Given the description of an element on the screen output the (x, y) to click on. 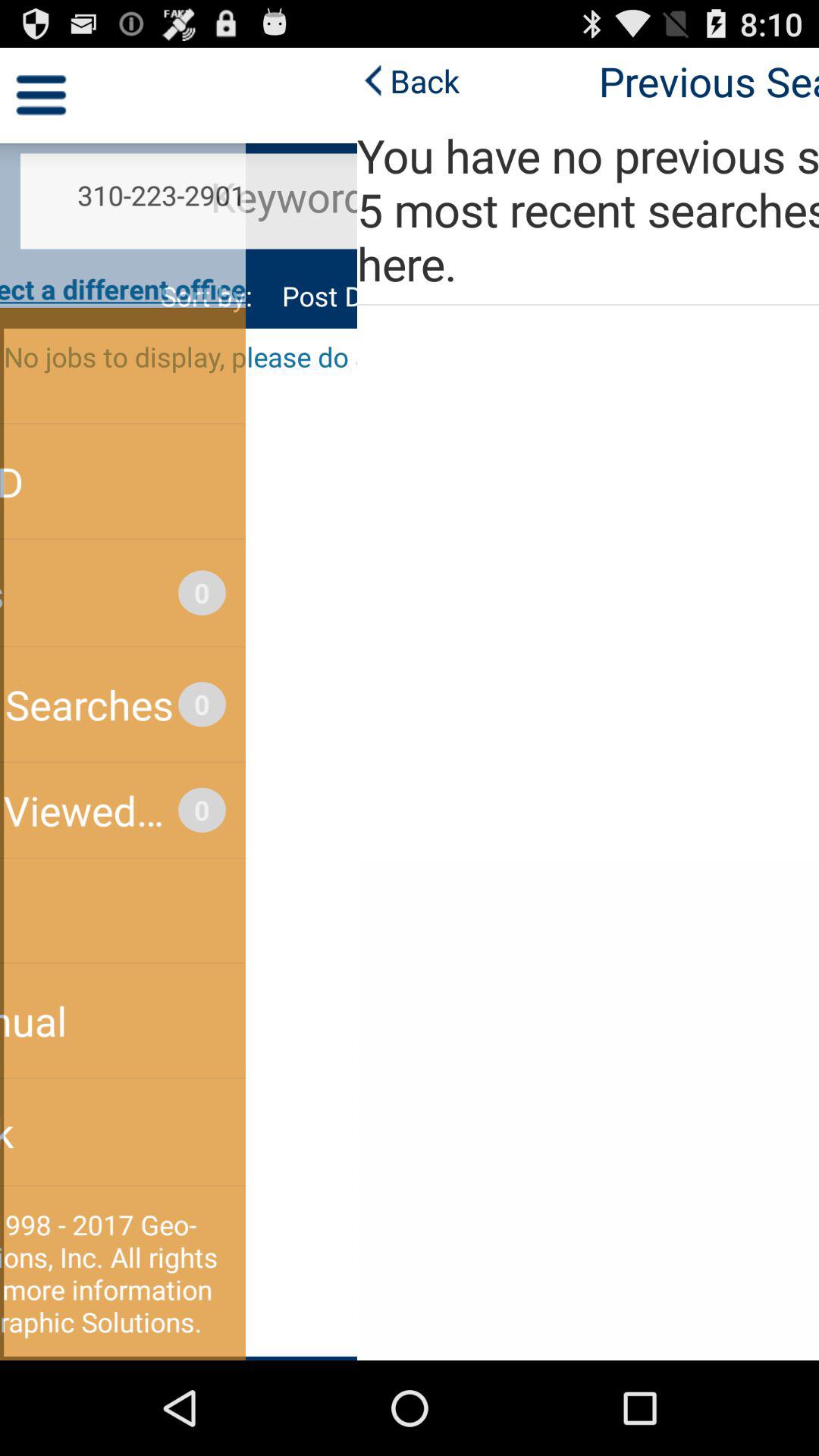
jump to back app (51, 80)
